Given the description of an element on the screen output the (x, y) to click on. 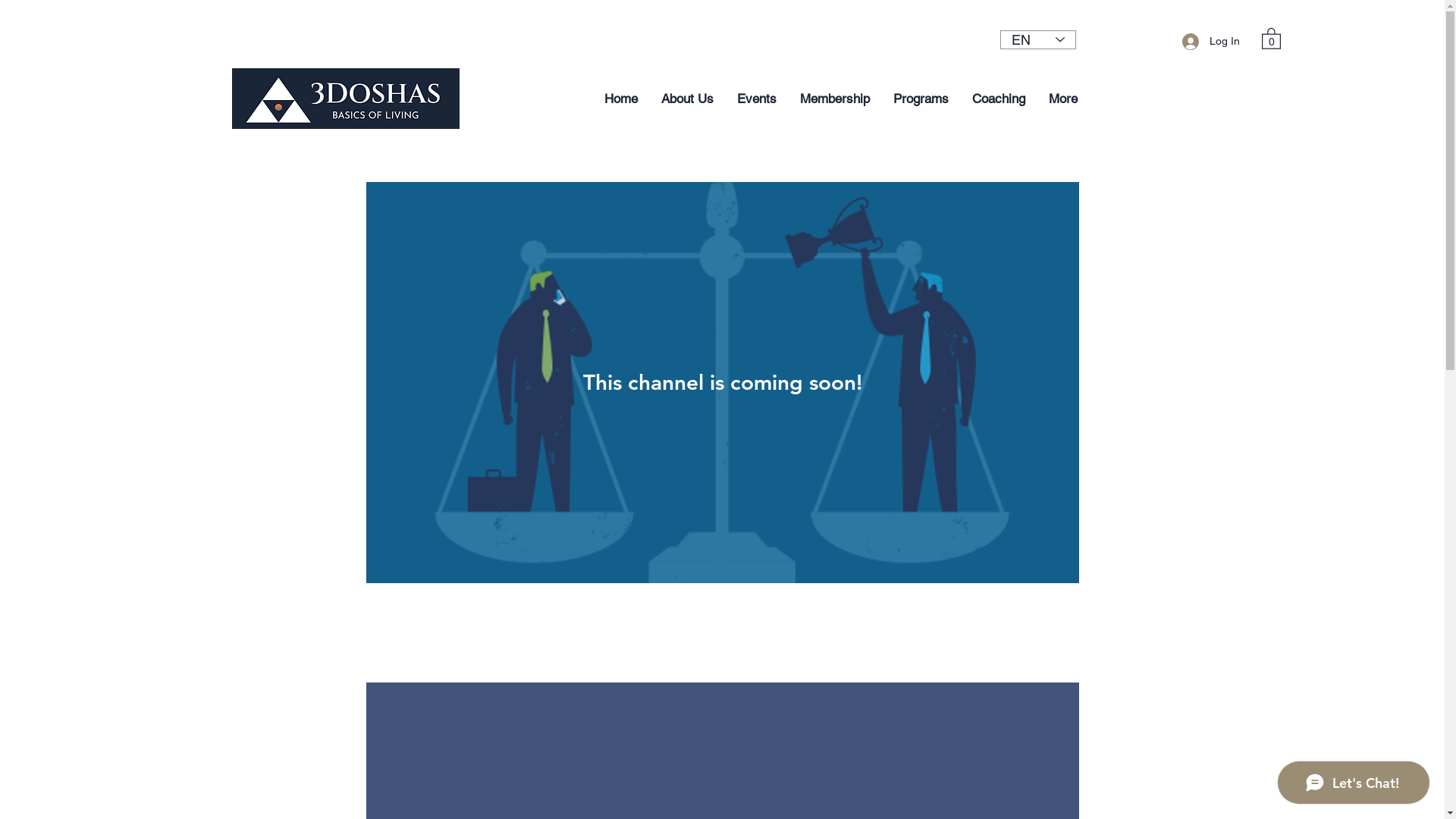
Membership Element type: text (833, 98)
0 Element type: text (1270, 37)
Home Element type: text (619, 98)
Coaching Element type: text (998, 98)
About Us Element type: text (686, 98)
Log In Element type: text (1210, 41)
Programs Element type: text (920, 98)
Events Element type: text (755, 98)
